Given the description of an element on the screen output the (x, y) to click on. 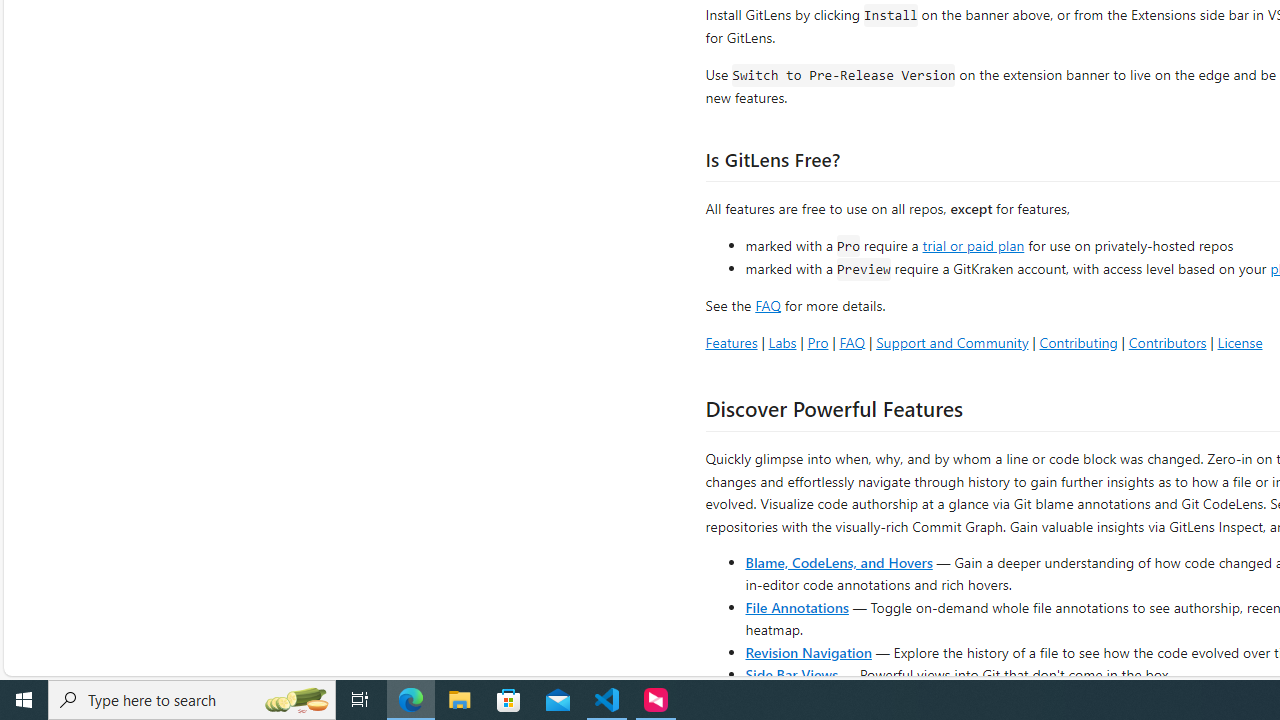
Labs (782, 341)
Contributing (1078, 341)
Side Bar Views (791, 673)
FAQ (852, 341)
File Annotations (796, 606)
Blame, CodeLens, and Hovers (838, 561)
License (1240, 341)
Support and Community (952, 341)
Features (731, 341)
Contributors (1167, 341)
trial or paid plan (973, 244)
Revision Navigation (807, 651)
Pro (817, 341)
